Given the description of an element on the screen output the (x, y) to click on. 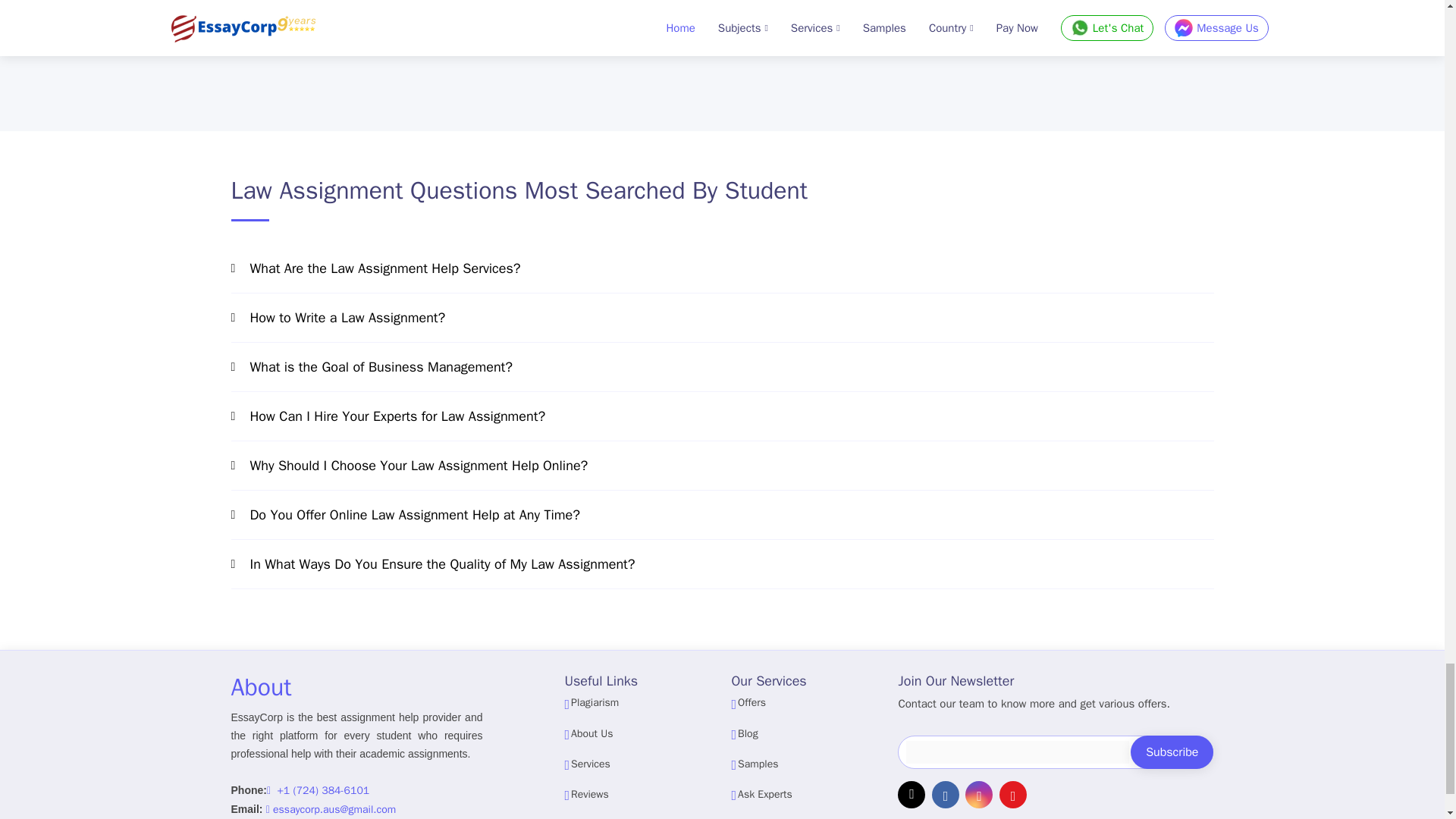
Subscribe (1171, 752)
